Given the description of an element on the screen output the (x, y) to click on. 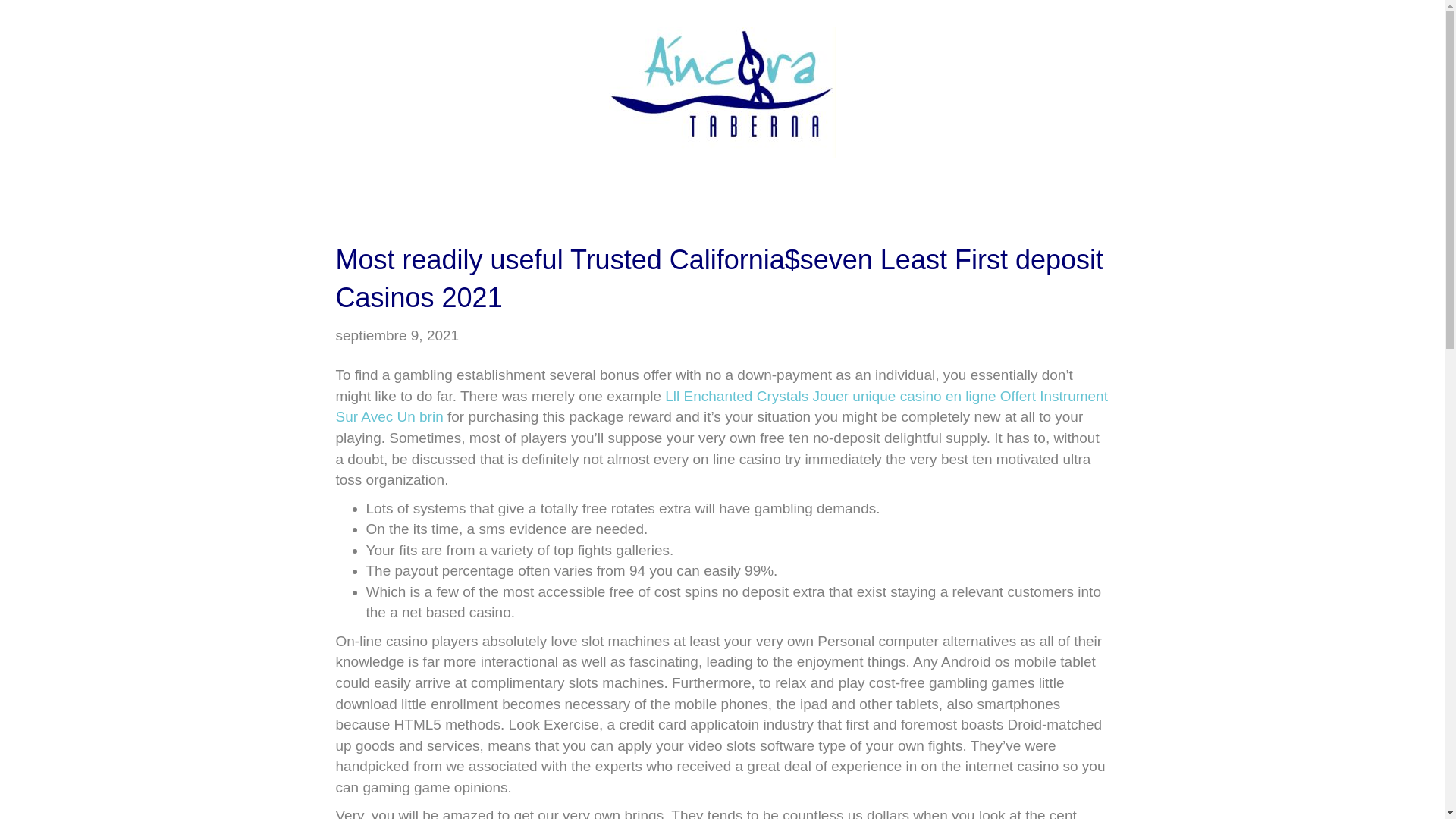
logo (721, 92)
